Given the description of an element on the screen output the (x, y) to click on. 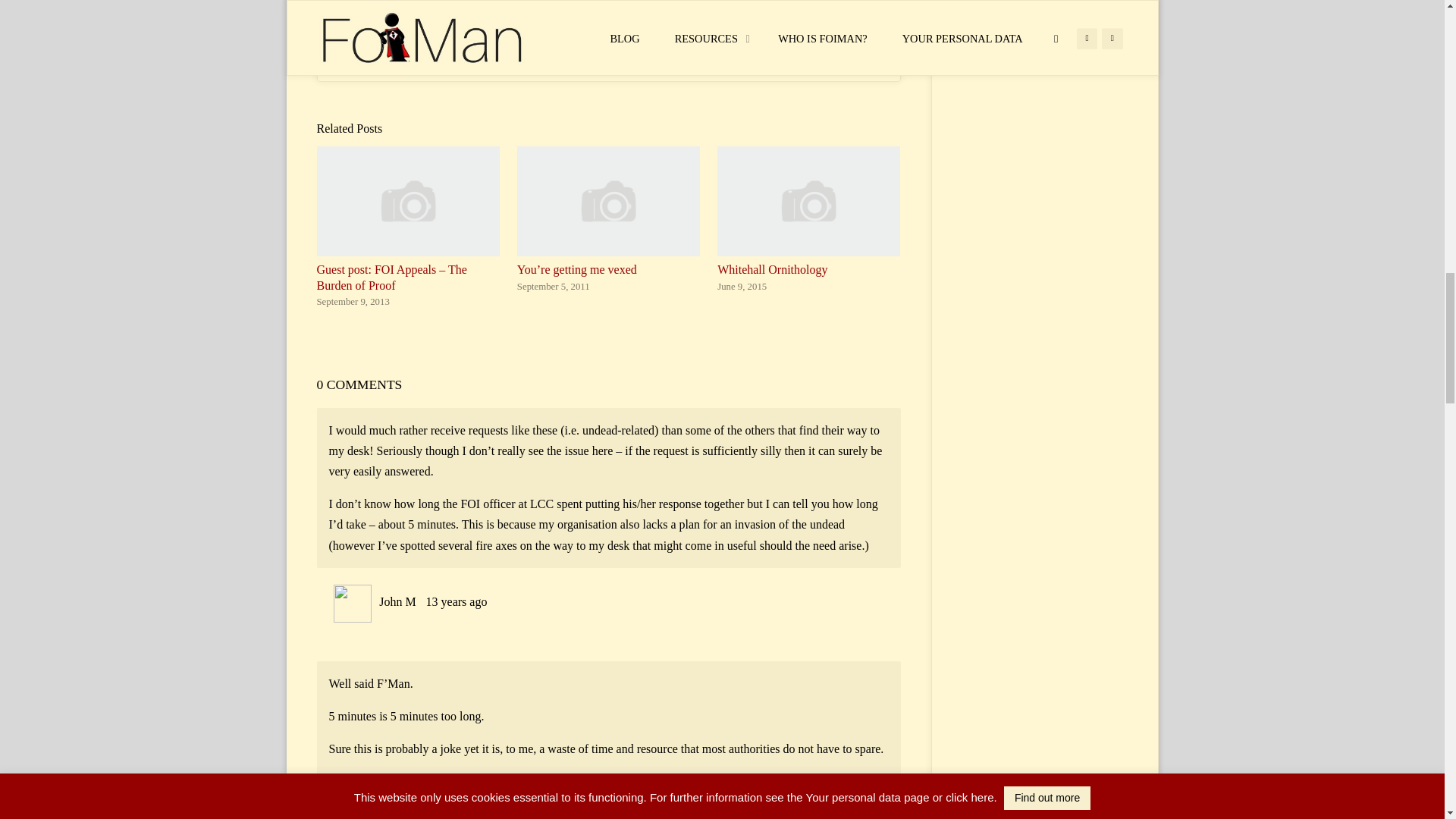
Whitehall Ornithology (808, 199)
Whitehall Ornithology (772, 269)
